Given the description of an element on the screen output the (x, y) to click on. 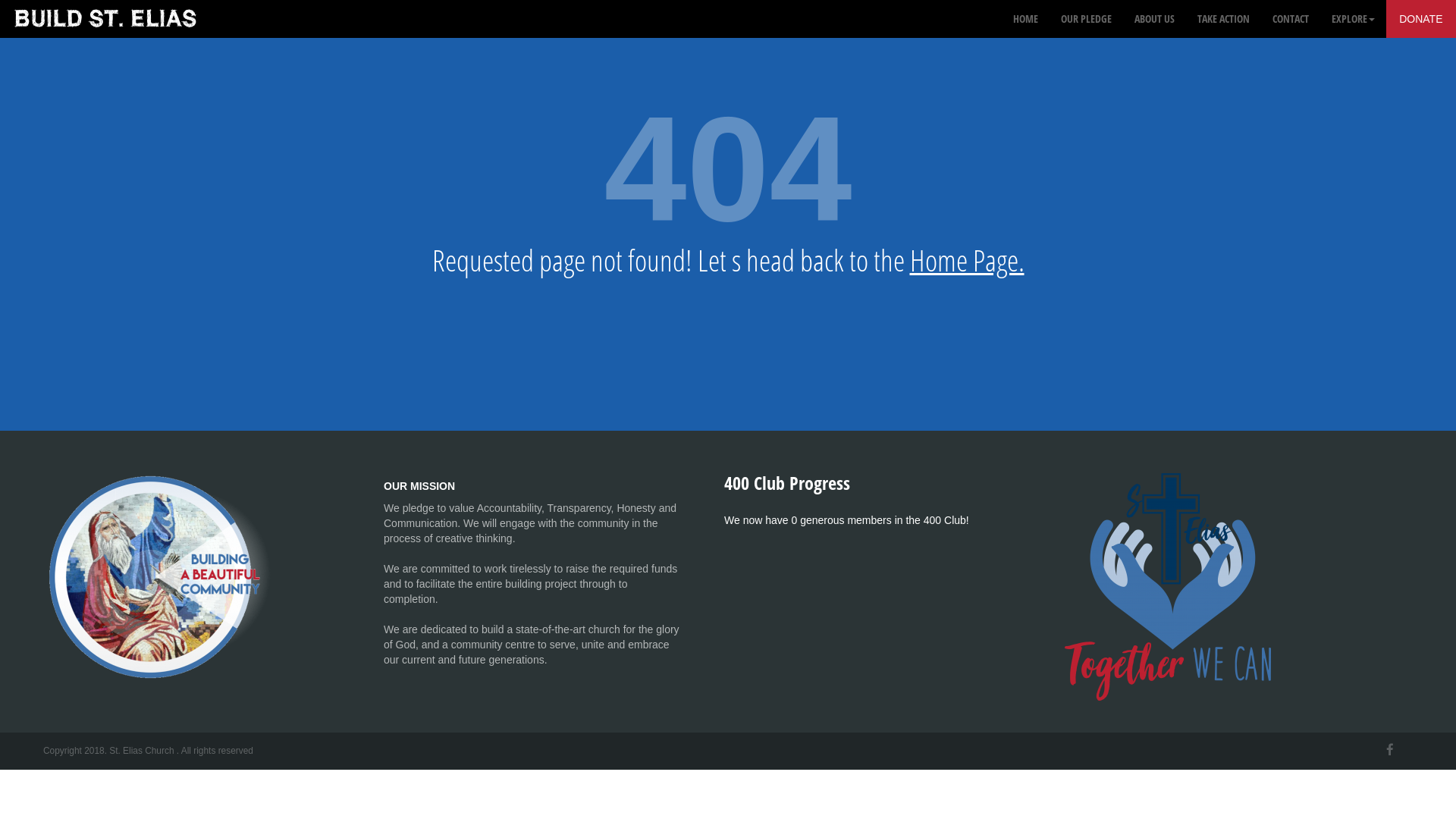
Home Page. Element type: text (967, 259)
TAKE ACTION Element type: text (1223, 18)
EXPLORE Element type: text (1353, 18)
OUR PLEDGE Element type: text (1086, 18)
CONTACT Element type: text (1290, 18)
HOME Element type: text (1025, 18)
ABOUT US Element type: text (1154, 18)
Build St Elias Church Element type: hover (106, 18)
DONATE Element type: text (1420, 18)
